Given the description of an element on the screen output the (x, y) to click on. 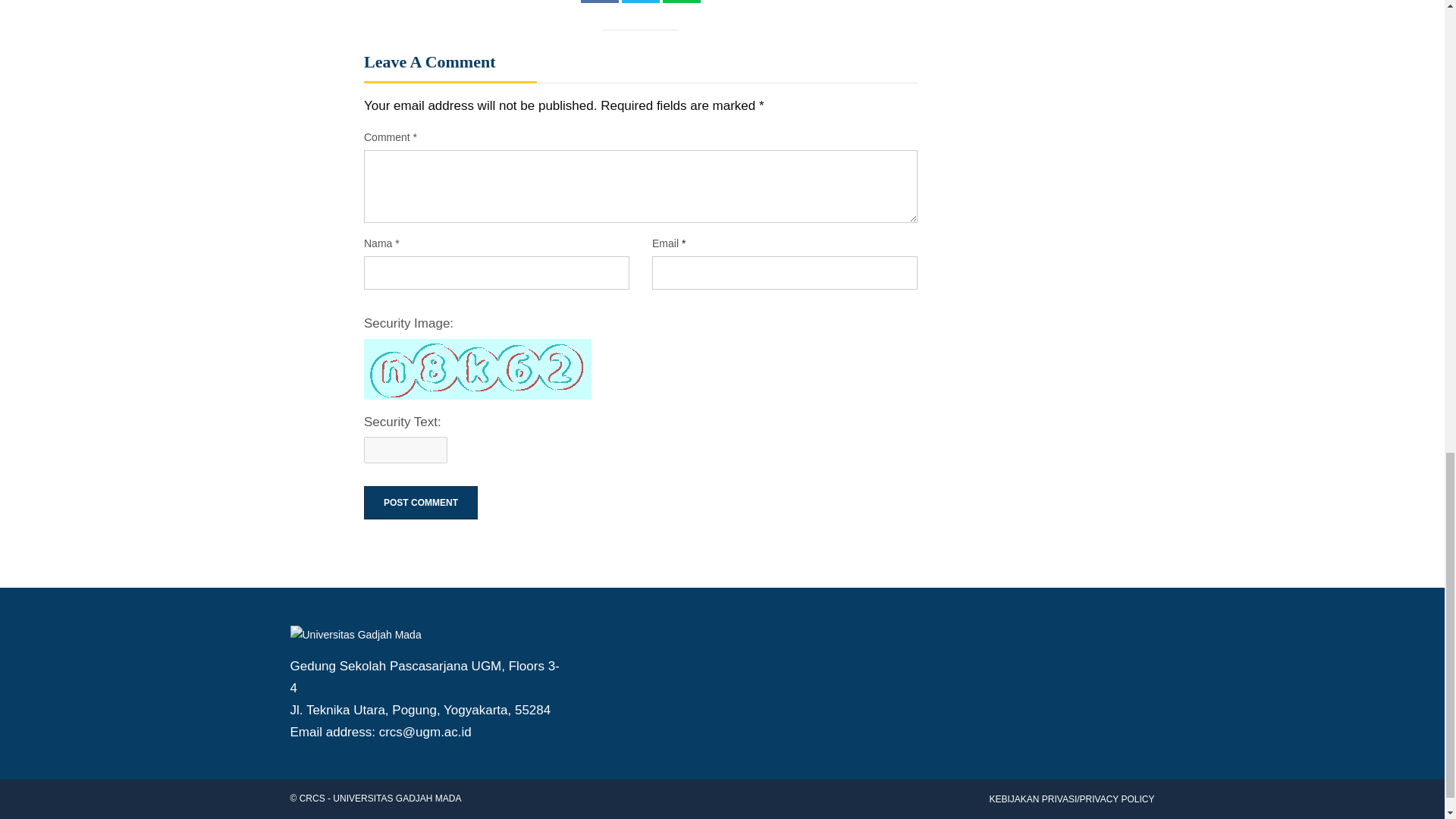
Post Comment (420, 503)
